Given the description of an element on the screen output the (x, y) to click on. 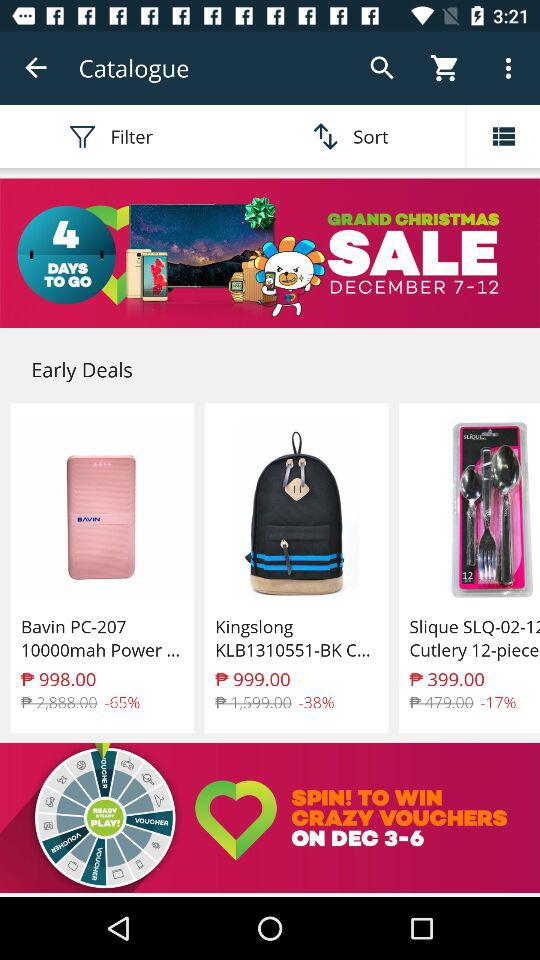
click icon above the filter icon (36, 68)
